Given the description of an element on the screen output the (x, y) to click on. 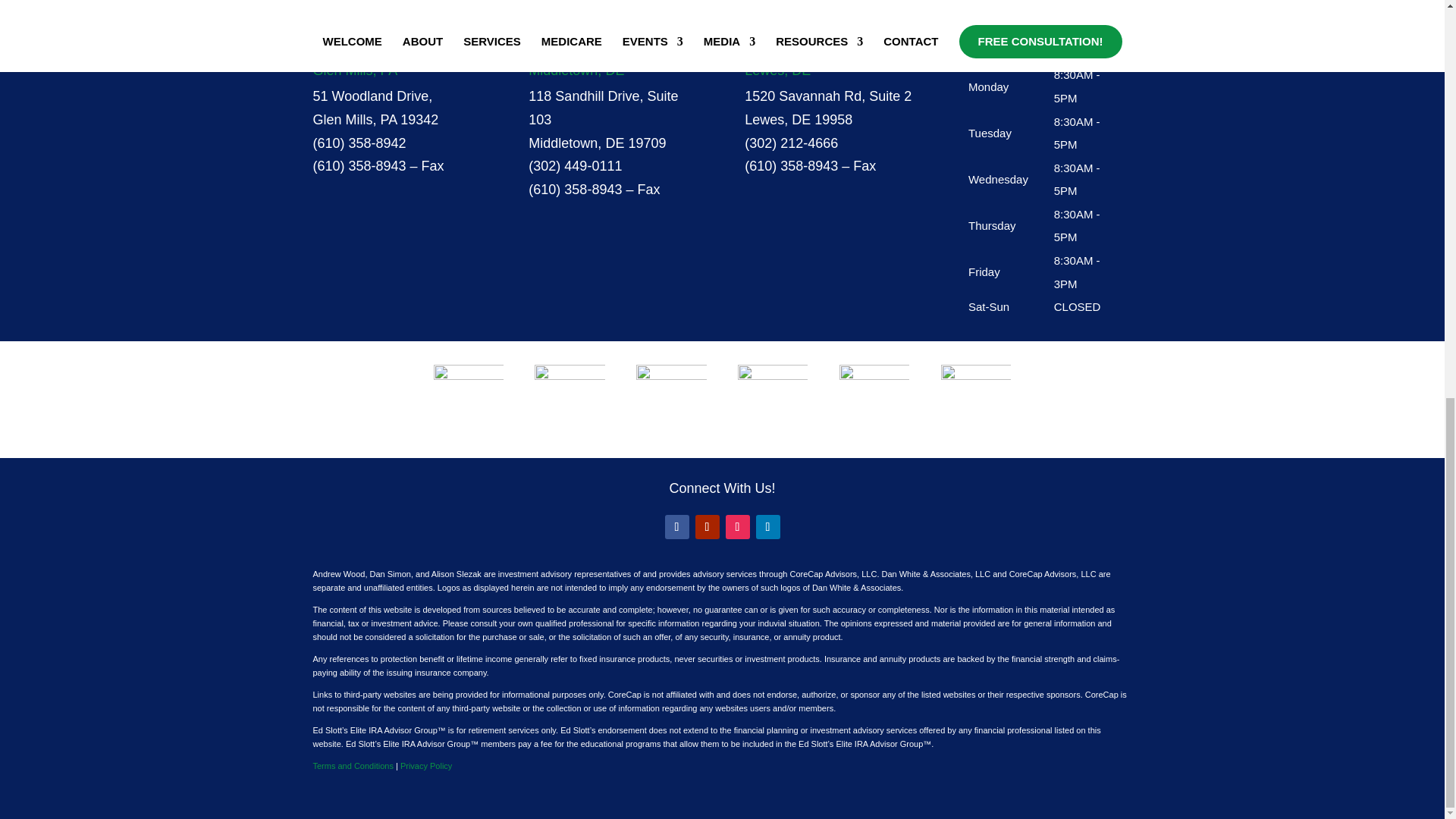
Follow on Facebook (675, 526)
dccc (975, 391)
Privacy Policy (425, 765)
Naifa (773, 391)
Follow on Instagram (737, 526)
Follow on LinkedIn (766, 526)
Terms and Conditions (353, 765)
mdrt-logo (468, 398)
IEG (874, 394)
FSP (569, 399)
ed slott logo (671, 395)
Follow on Youtube (706, 526)
